Given the description of an element on the screen output the (x, y) to click on. 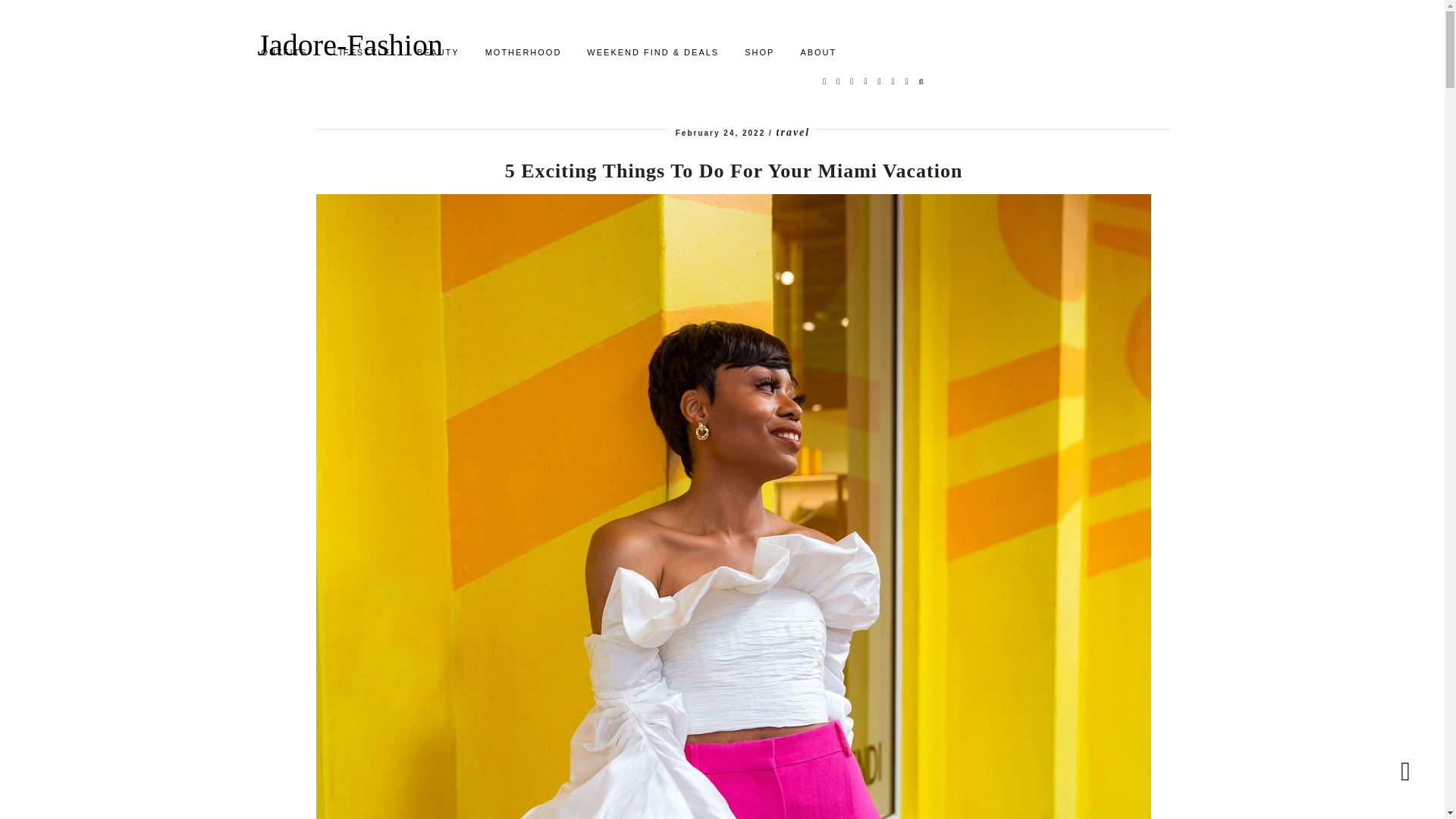
OUTFITS (284, 51)
travel (793, 132)
MOTHERHOOD (523, 51)
Jadore-Fashion (349, 44)
Jadore-Fashion (349, 44)
ABOUT (817, 51)
BEAUTY (437, 51)
LIFESTYLE (362, 51)
SHOP (759, 51)
